Given the description of an element on the screen output the (x, y) to click on. 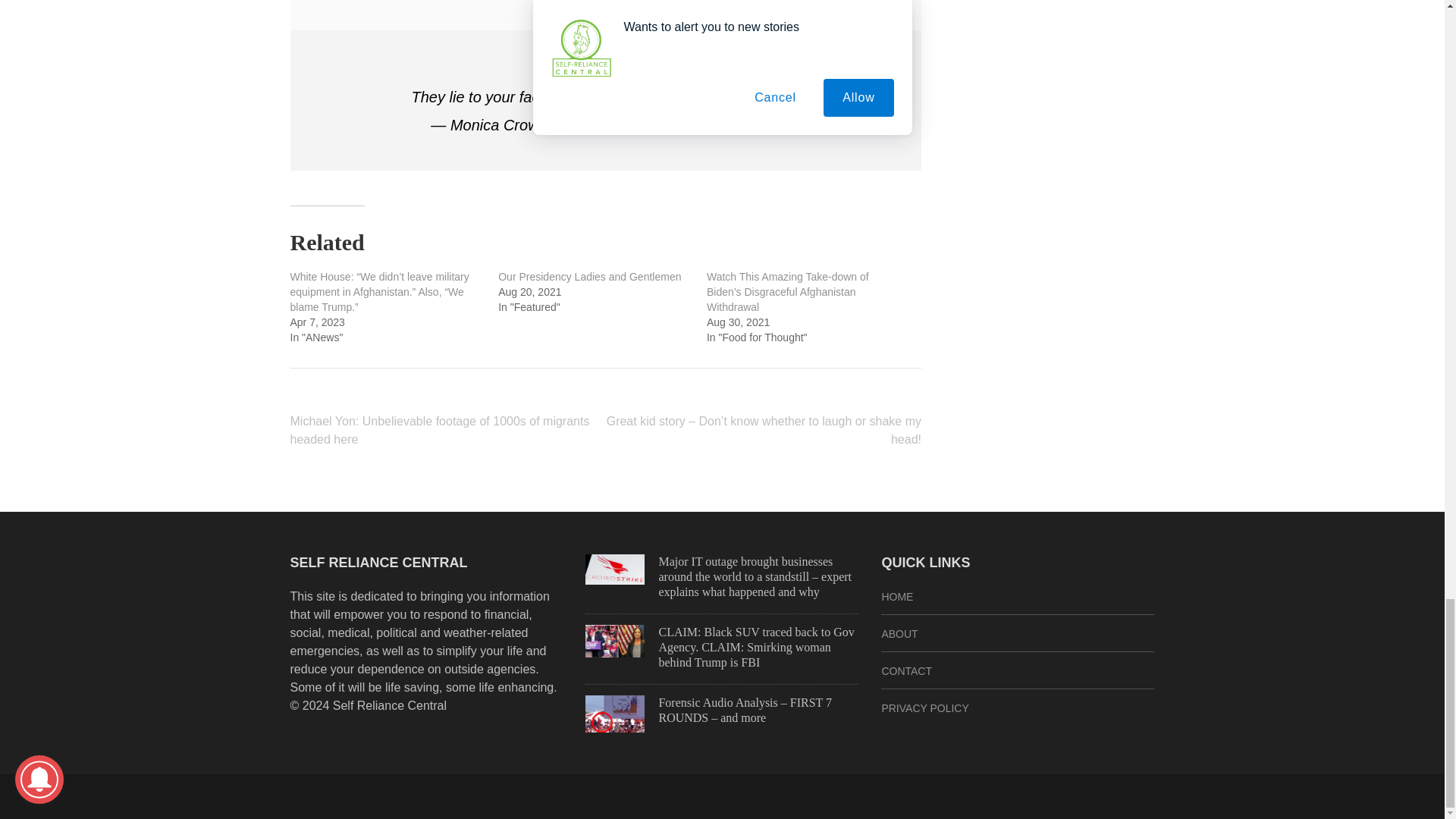
Our Presidency Ladies and Gentlemen (589, 276)
